Given the description of an element on the screen output the (x, y) to click on. 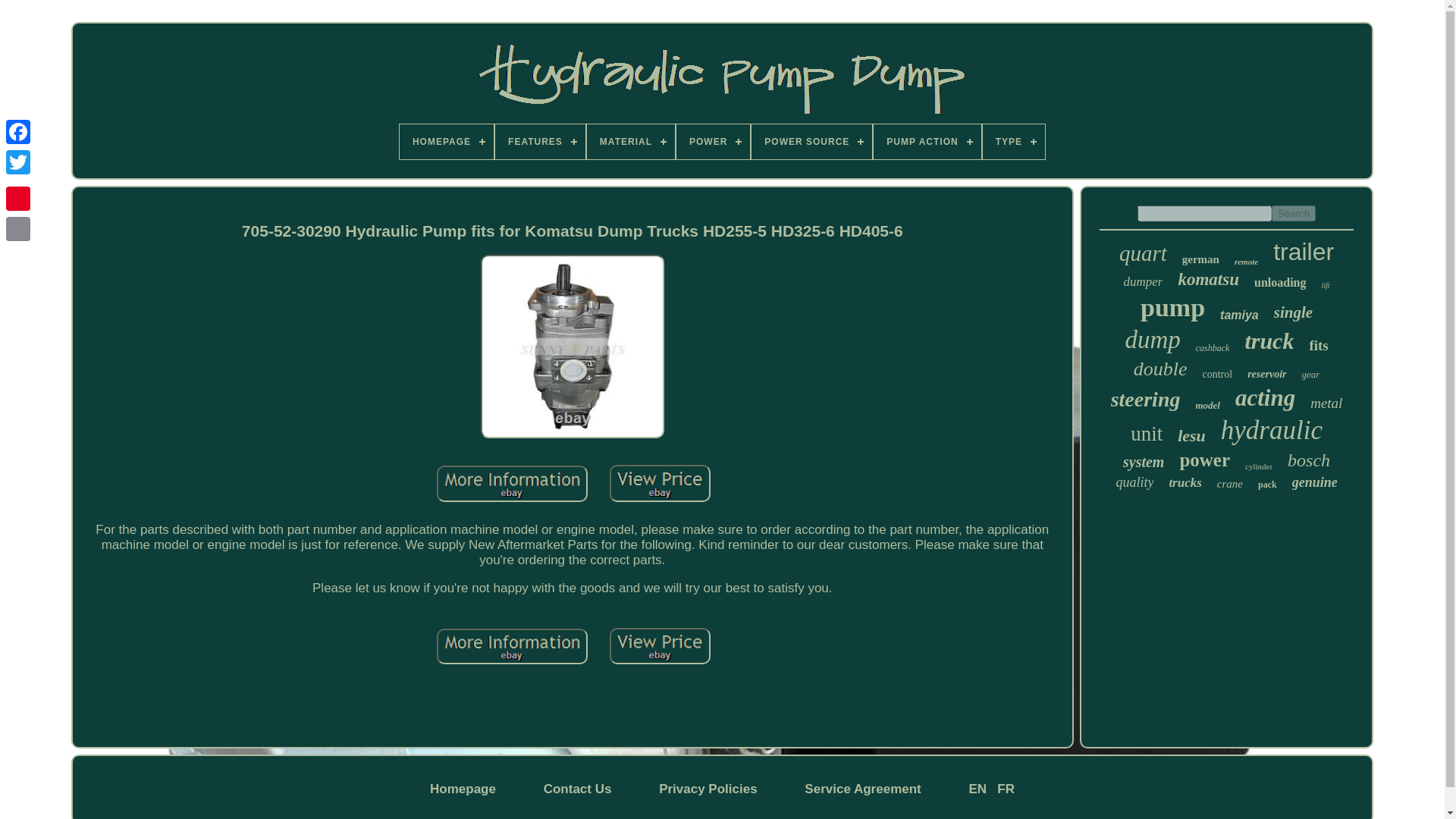
Search (1293, 213)
POWER (713, 141)
FEATURES (540, 141)
MATERIAL (630, 141)
HOMEPAGE (445, 141)
